Given the description of an element on the screen output the (x, y) to click on. 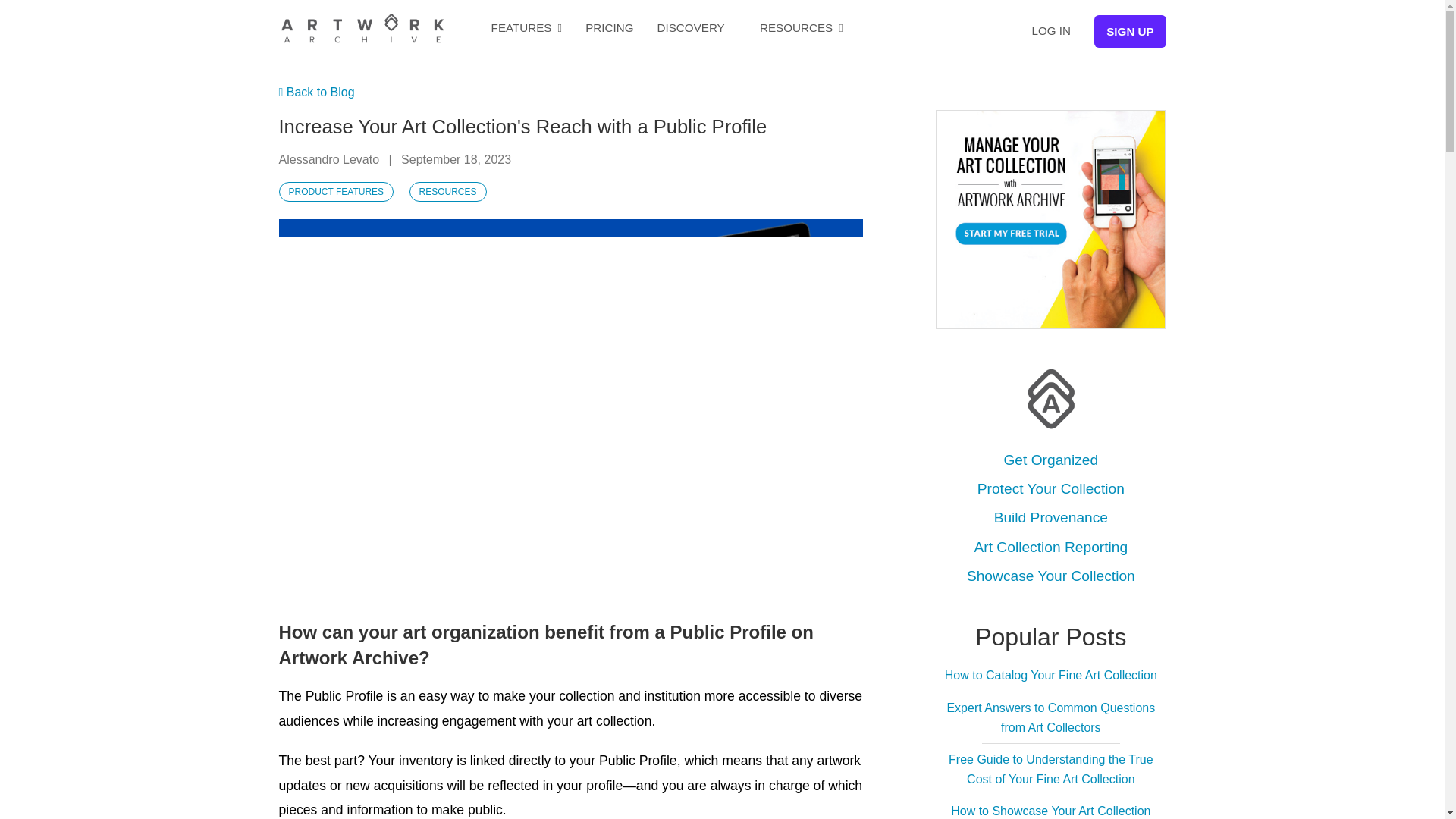
PRICING (609, 27)
SIGN UP (1130, 31)
LOG IN (1050, 30)
Discovery (691, 27)
SIGN UP (1130, 31)
DISCOVERY (691, 27)
RESOURCES (447, 191)
Back to Blog (317, 91)
Plans and Pricing (609, 27)
FEATURES (527, 27)
